Given the description of an element on the screen output the (x, y) to click on. 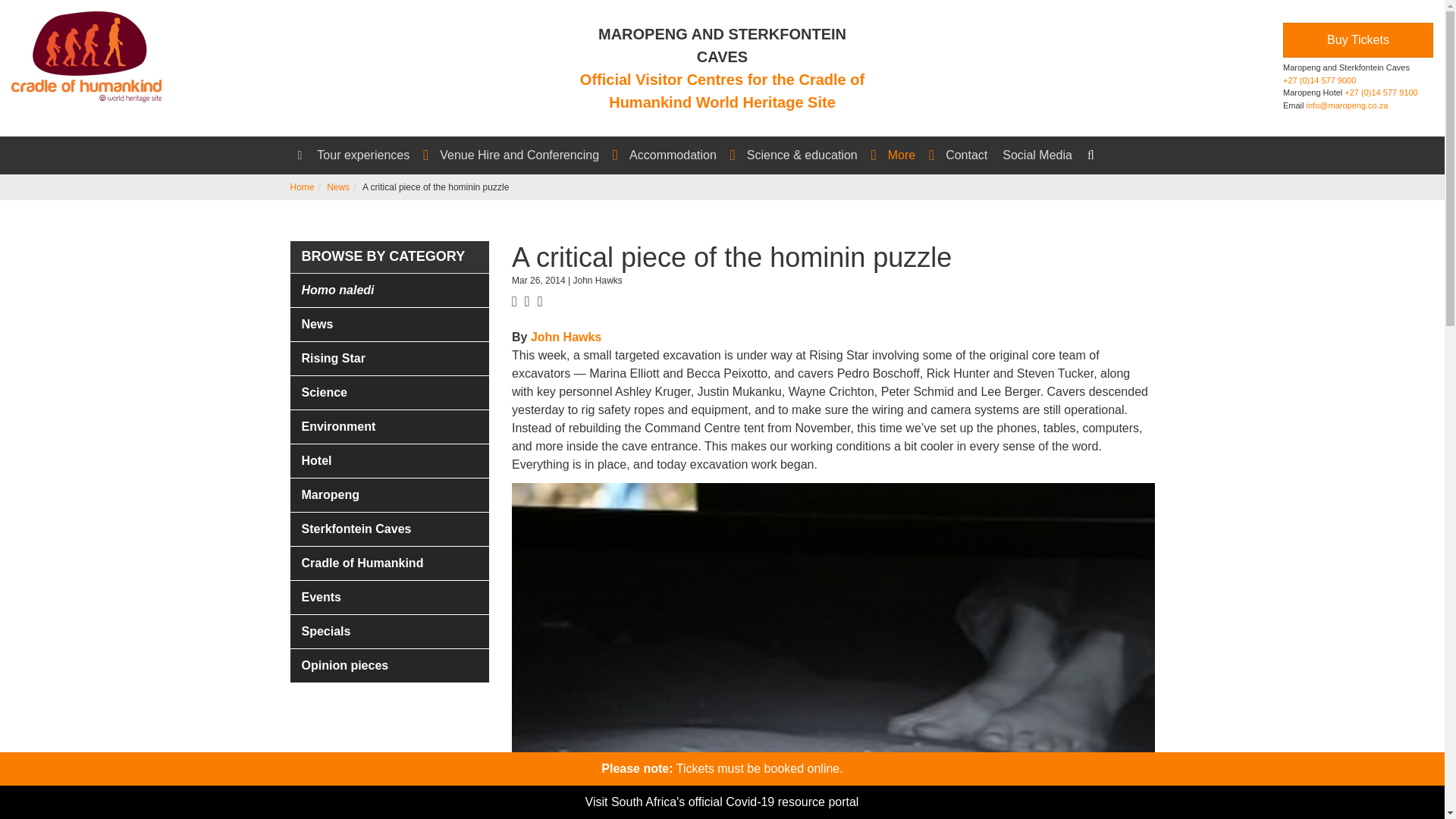
News (337, 186)
Social Media (1037, 155)
Contact (965, 155)
More (908, 155)
Tour experiences (370, 155)
Buy Tickets (1357, 39)
Accommodation (680, 155)
Home (301, 186)
Venue Hire and Conferencing (526, 155)
